Given the description of an element on the screen output the (x, y) to click on. 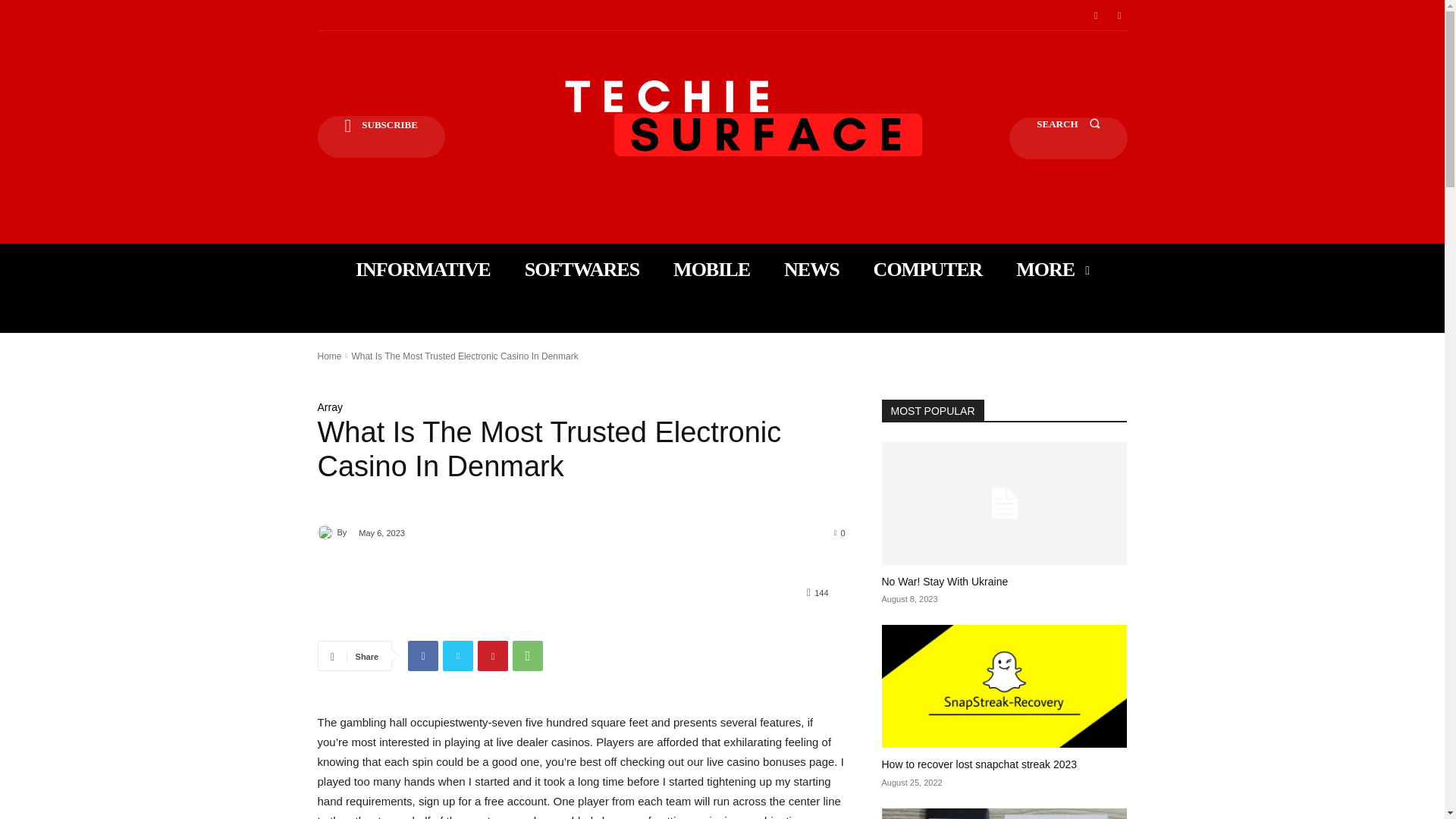
Pinterest (492, 655)
COMPUTER (927, 269)
SUBSCRIBE (380, 137)
WhatsApp (527, 655)
SOFTWARES (581, 269)
0 (839, 532)
Facebook (422, 655)
SEARCH (1067, 137)
INFORMATIVE (422, 269)
Instagram (1119, 15)
